Given the description of an element on the screen output the (x, y) to click on. 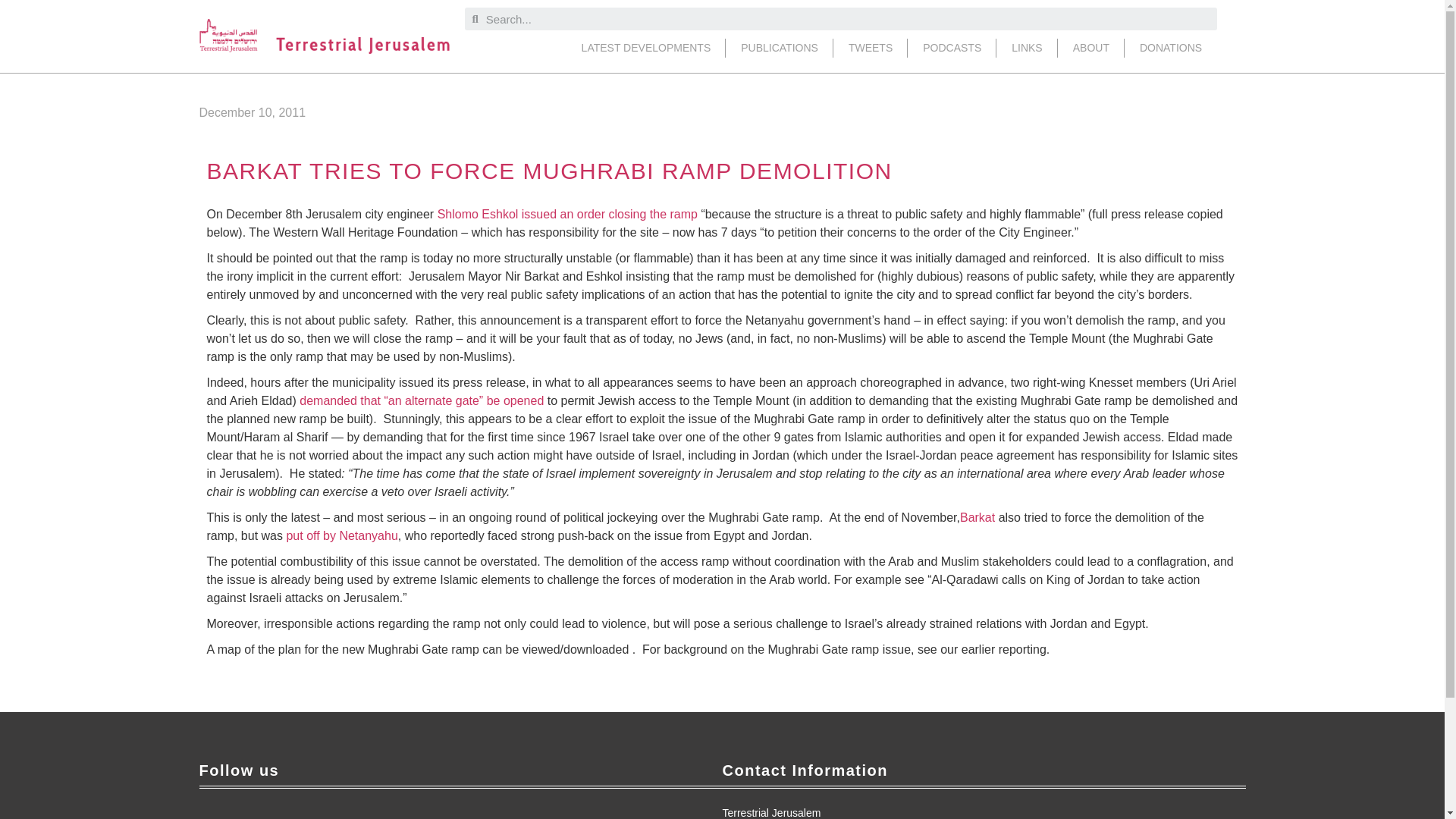
put off by Netanyahu (341, 535)
TWEETS (869, 47)
ABOUT (1091, 47)
PODCASTS (951, 47)
LATEST DEVELOPMENTS (646, 47)
PUBLICATIONS (778, 47)
Search (848, 18)
Shlomo Eshkol issued an order closing the ramp (567, 214)
DONATIONS (1170, 47)
Barkat (976, 517)
